Given the description of an element on the screen output the (x, y) to click on. 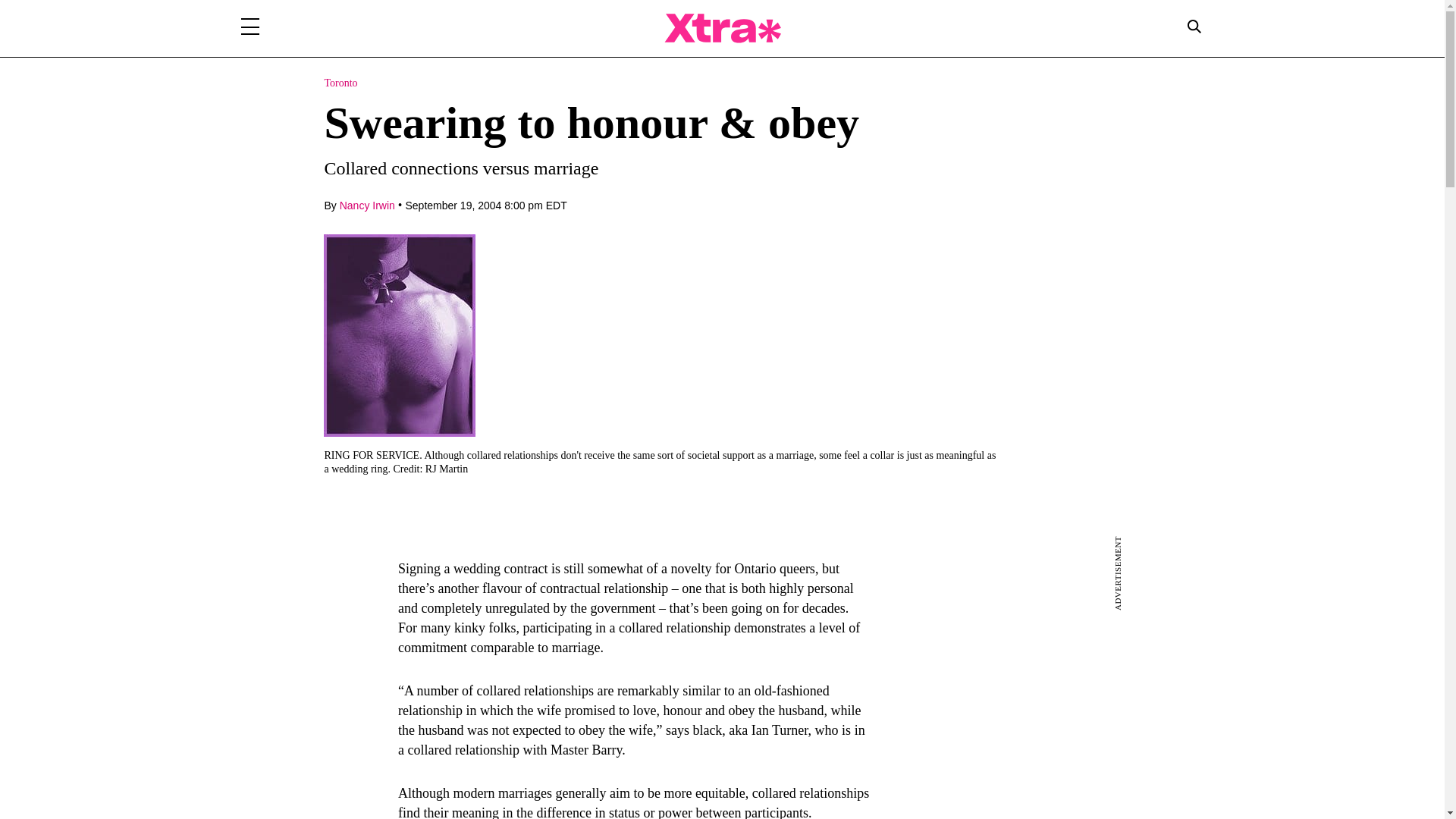
Xtra Magazine (722, 28)
